Given the description of an element on the screen output the (x, y) to click on. 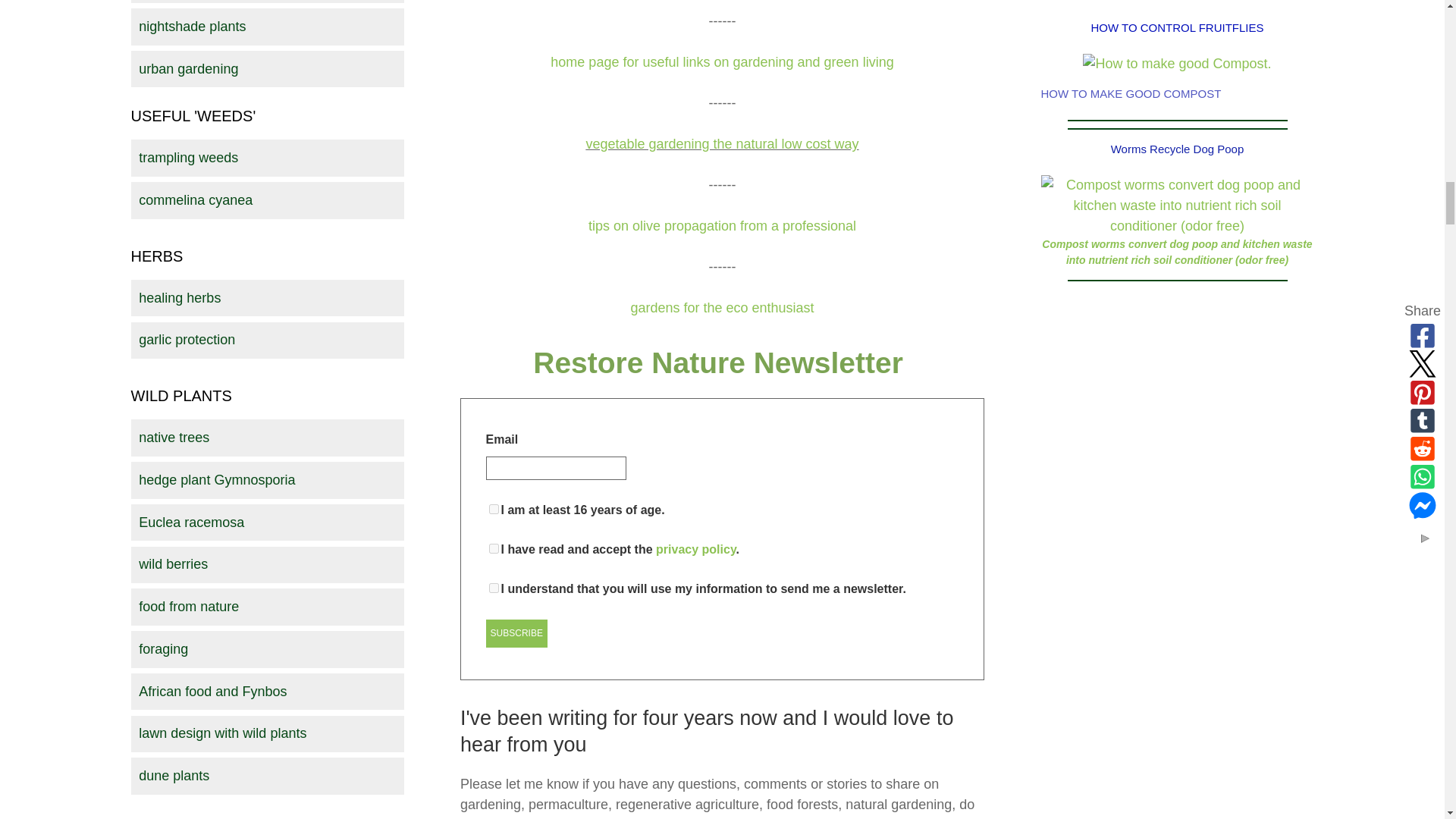
on (494, 509)
Go to organic garden fertilizer (1177, 63)
How to make good Compost. (1177, 64)
on (494, 548)
on (494, 587)
